Given the description of an element on the screen output the (x, y) to click on. 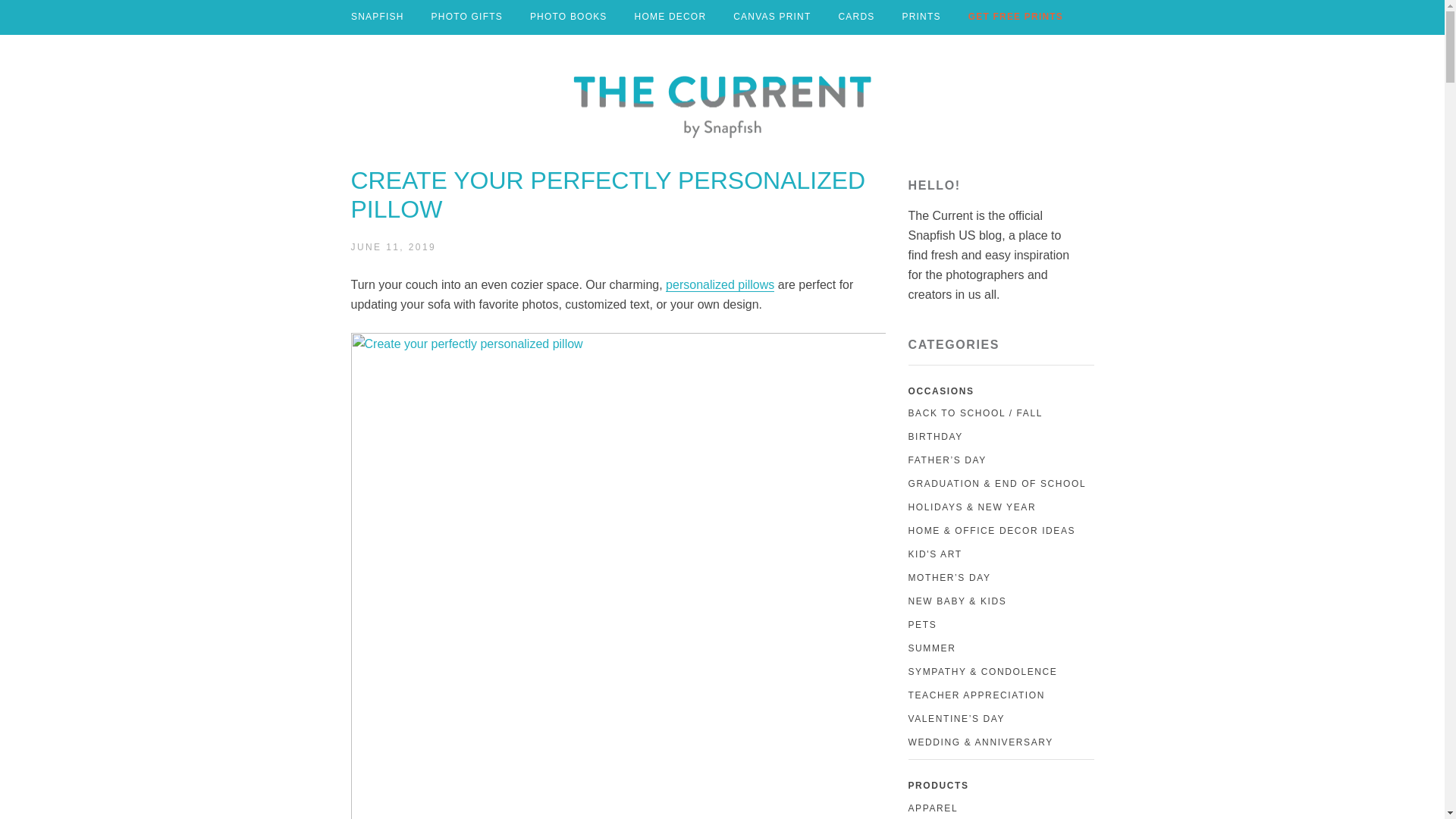
CANVAS PRINT (771, 17)
PHOTO BOOKS (568, 17)
HOME DECOR (670, 17)
PHOTO GIFTS (466, 17)
PRINTS (920, 17)
personalized pillows (719, 284)
CARDS (855, 17)
GET FREE PRINTS (1015, 17)
SNAPFISH (377, 17)
